Given the description of an element on the screen output the (x, y) to click on. 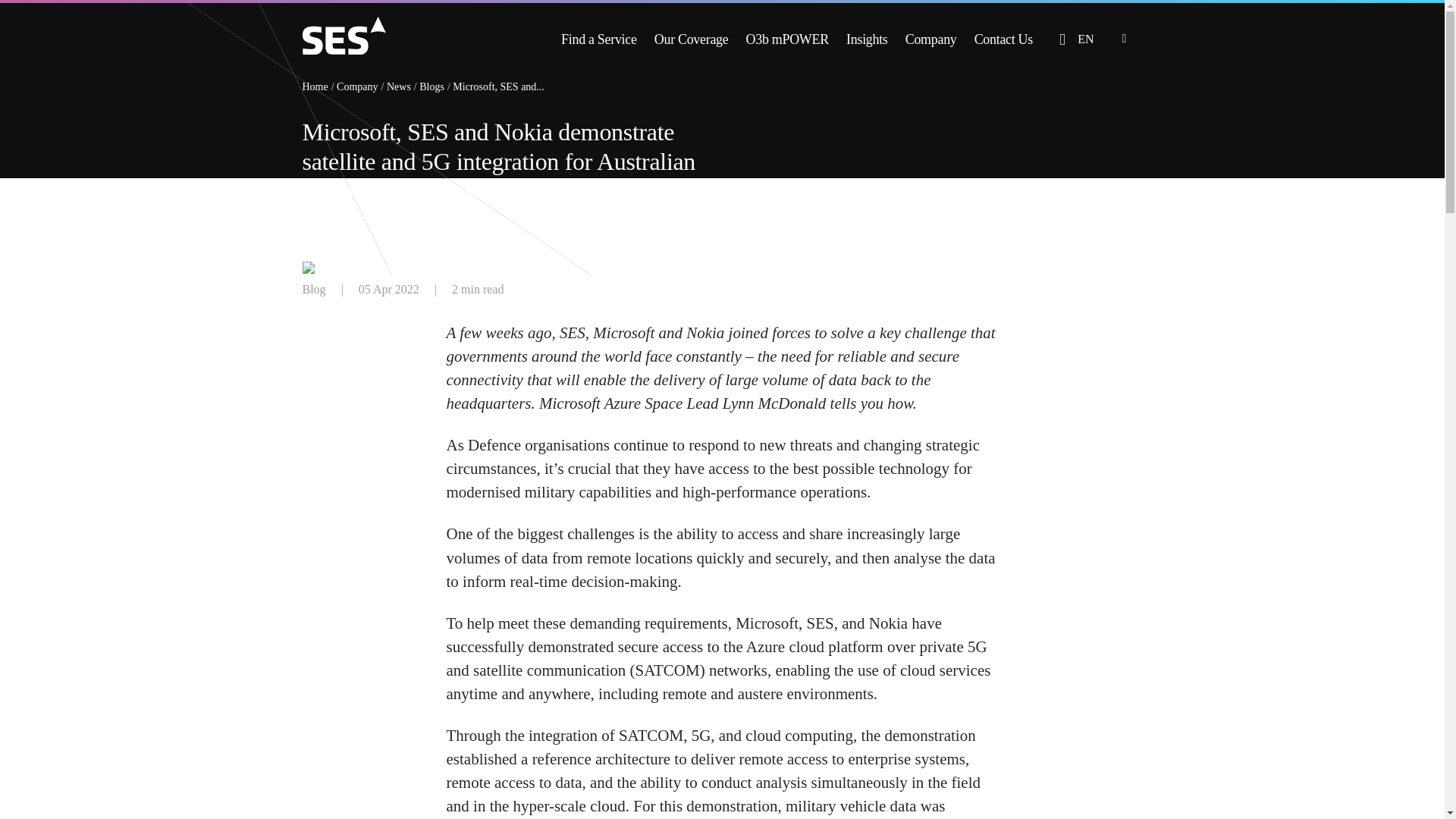
SES logo (343, 35)
Tuesday, April 5, 2022 - 09:36 (388, 288)
